Given the description of an element on the screen output the (x, y) to click on. 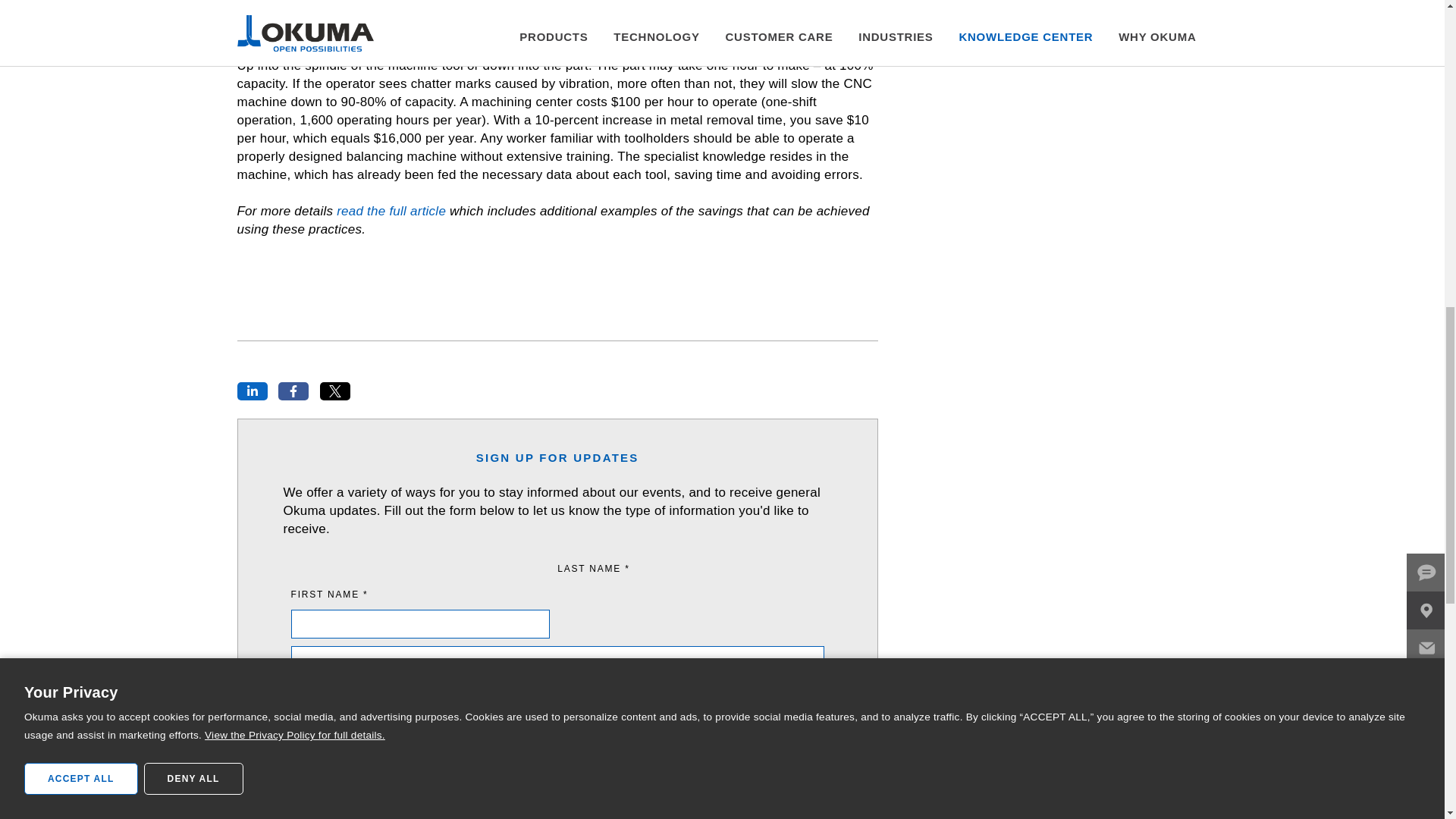
Required (557, 568)
Haimer Balance Machines (593, 29)
Required (420, 594)
Required (557, 704)
